Given the description of an element on the screen output the (x, y) to click on. 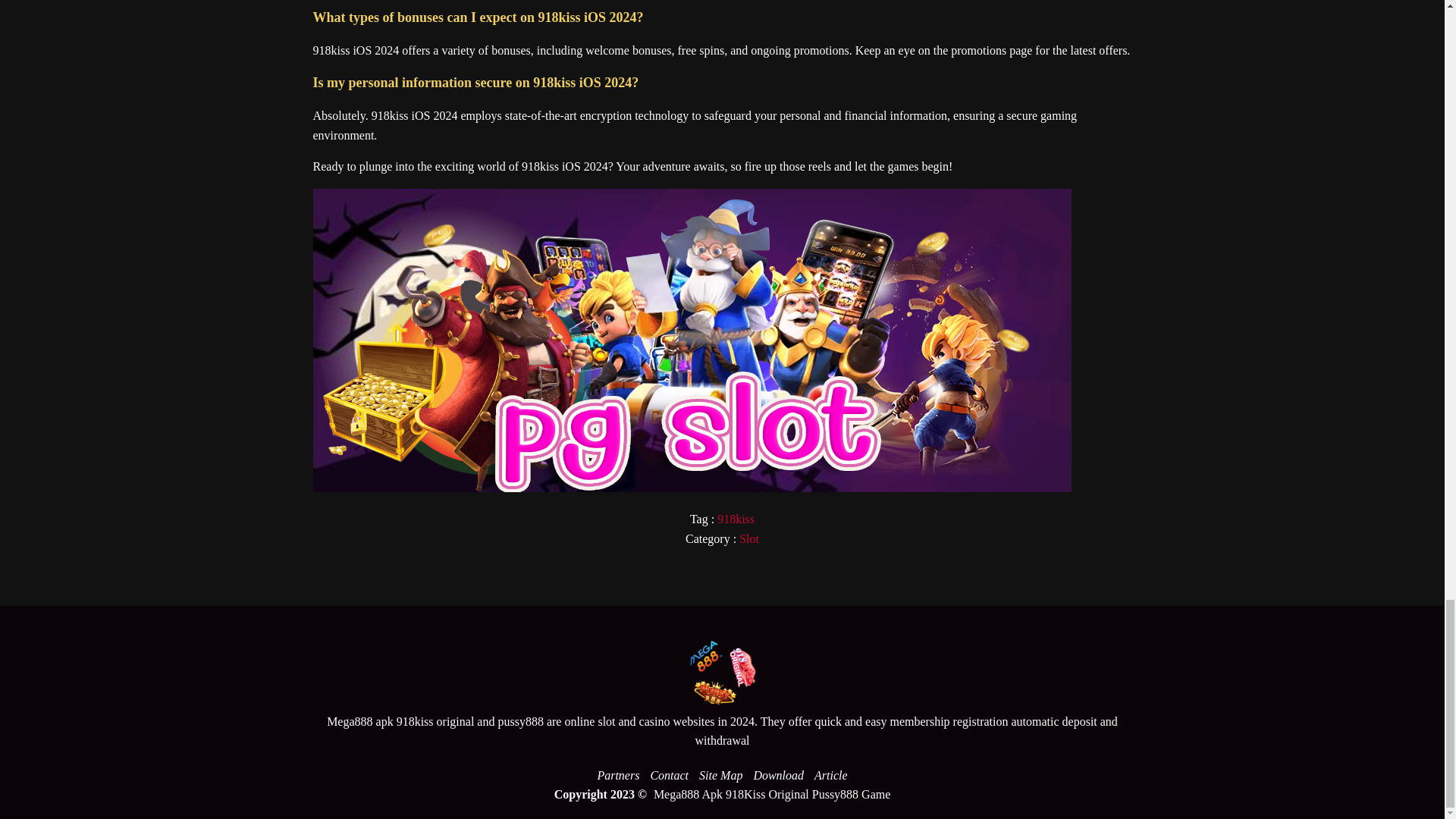
Download (778, 775)
Partners (618, 775)
Article (831, 775)
Site Map (721, 775)
918kiss (735, 518)
Slot (748, 538)
Contact (669, 775)
